Given the description of an element on the screen output the (x, y) to click on. 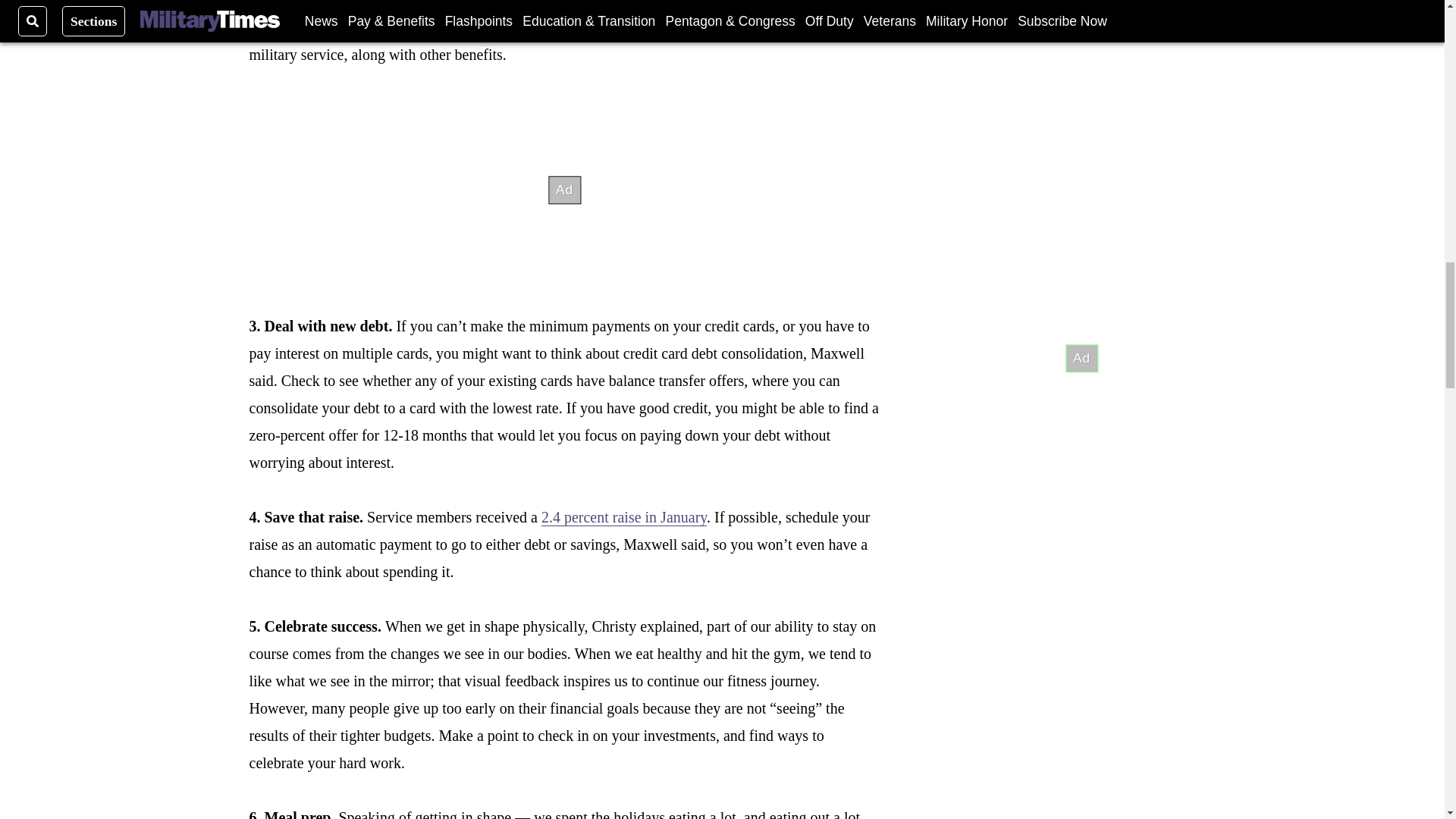
3rd party ad content (1081, 56)
